Given the description of an element on the screen output the (x, y) to click on. 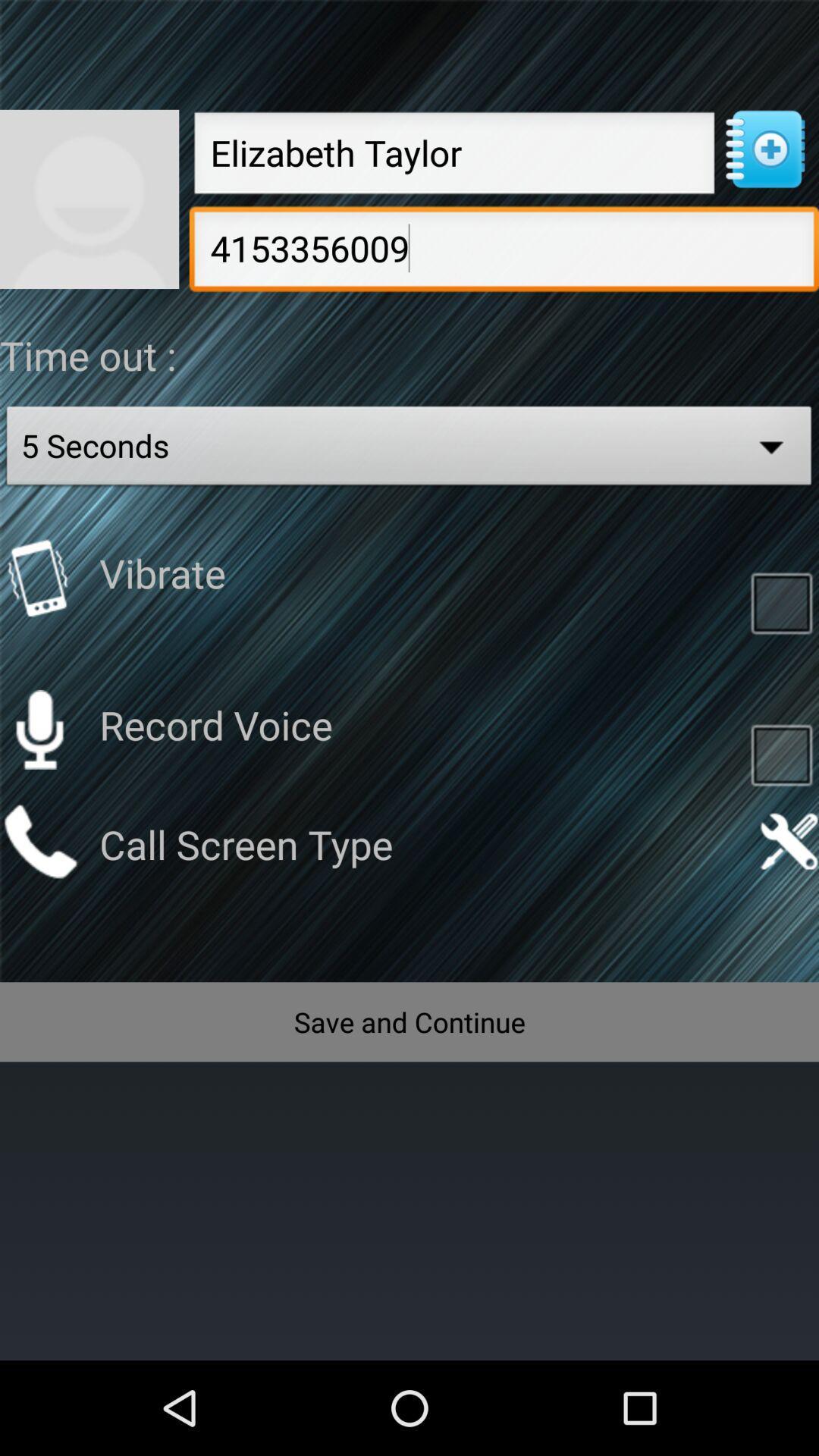
to highlight (781, 602)
